Given the description of an element on the screen output the (x, y) to click on. 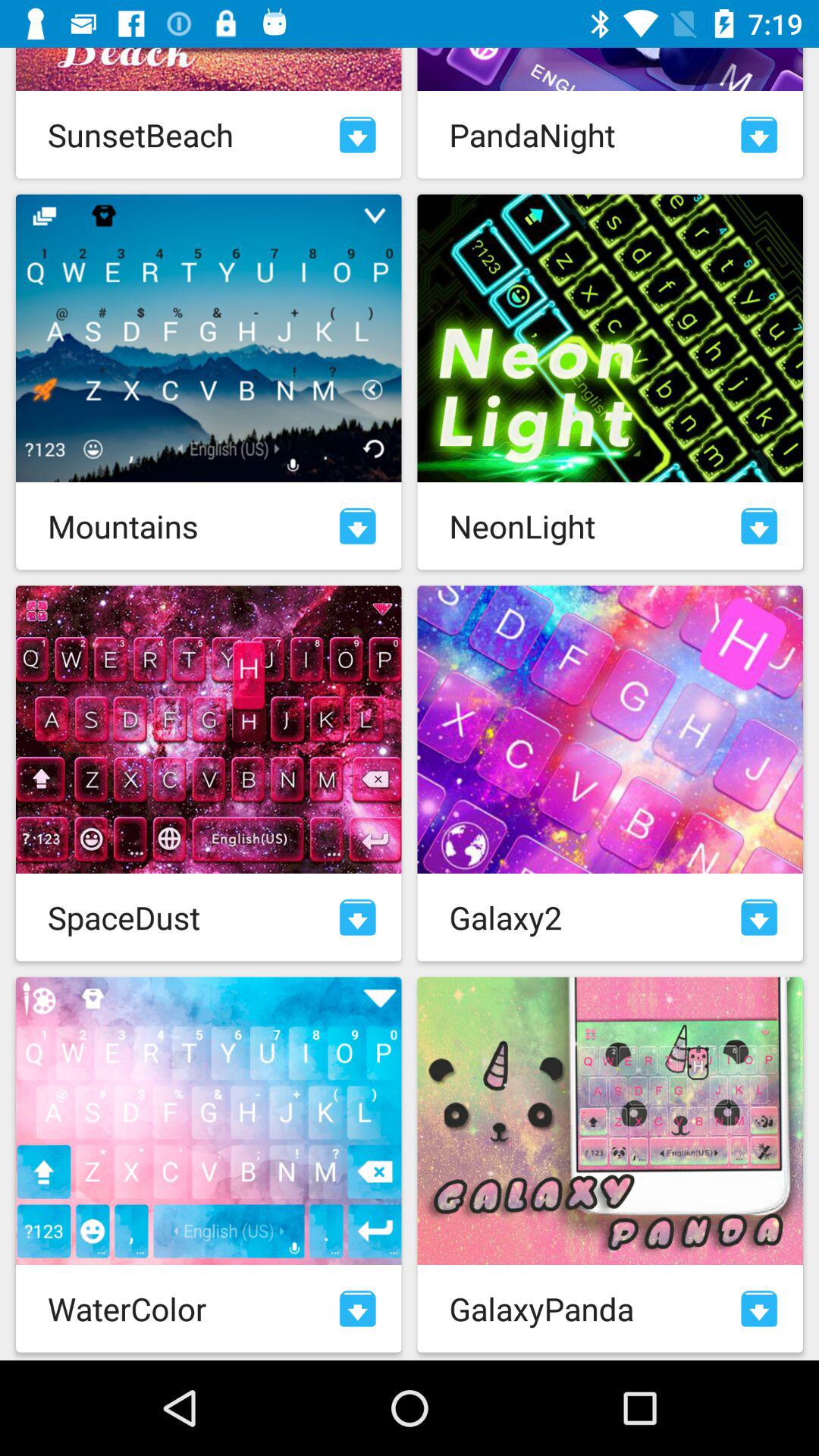
download element (357, 525)
